Given the description of an element on the screen output the (x, y) to click on. 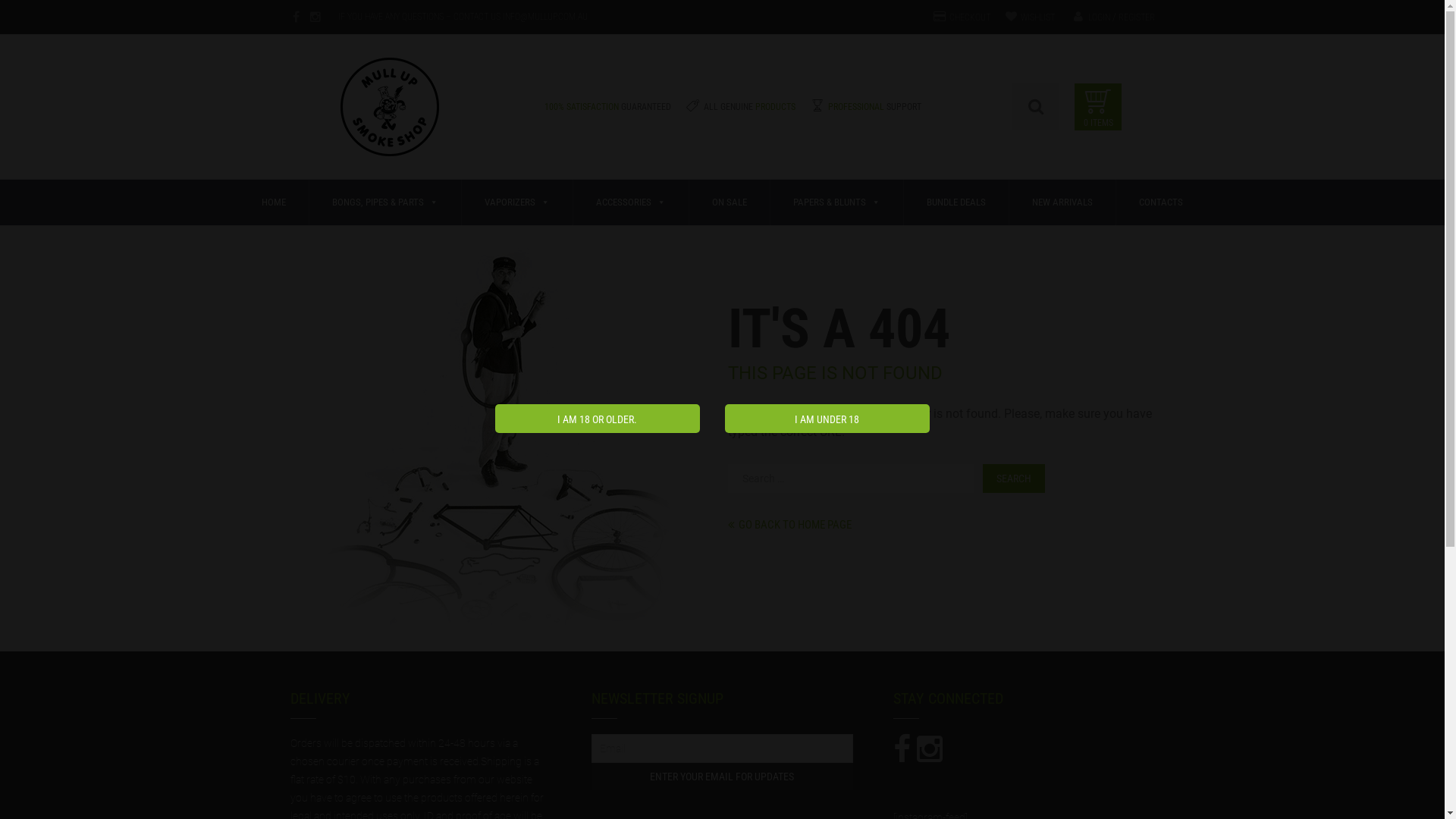
Oops! That page can't be found. Element type: hover (508, 438)
Search Element type: text (1013, 478)
Enter Your Email for updates Element type: text (721, 776)
I am 18 or older. Element type: text (596, 418)
INFO@MULLUP.COM.AU Element type: text (544, 16)
VAPORIZERS Element type: text (517, 202)
Skip to content Element type: text (226, 178)
GO BACK TO HOME PAGE Element type: text (789, 524)
REGISTER Element type: text (1135, 17)
PAPERS & BLUNTS Element type: text (836, 202)
NEW ARRIVALS Element type: text (1062, 202)
Connect us Element type: hover (295, 16)
Connect us Element type: hover (315, 16)
Connect us Element type: hover (901, 749)
ACCESSORIES Element type: text (631, 202)
LOGIN Element type: text (1098, 17)
HOME Element type: text (273, 202)
WISHLIST Element type: text (1037, 17)
I am under 18 Element type: text (826, 418)
ON SALE Element type: text (729, 202)
BUNDLE DEALS Element type: text (956, 202)
CONTACTS Element type: text (1160, 202)
Connect us Element type: hover (929, 749)
BONGS, PIPES & PARTS Element type: text (385, 202)
CHECKOUT Element type: text (969, 17)
Mull Up Australia Element type: hover (389, 117)
